Given the description of an element on the screen output the (x, y) to click on. 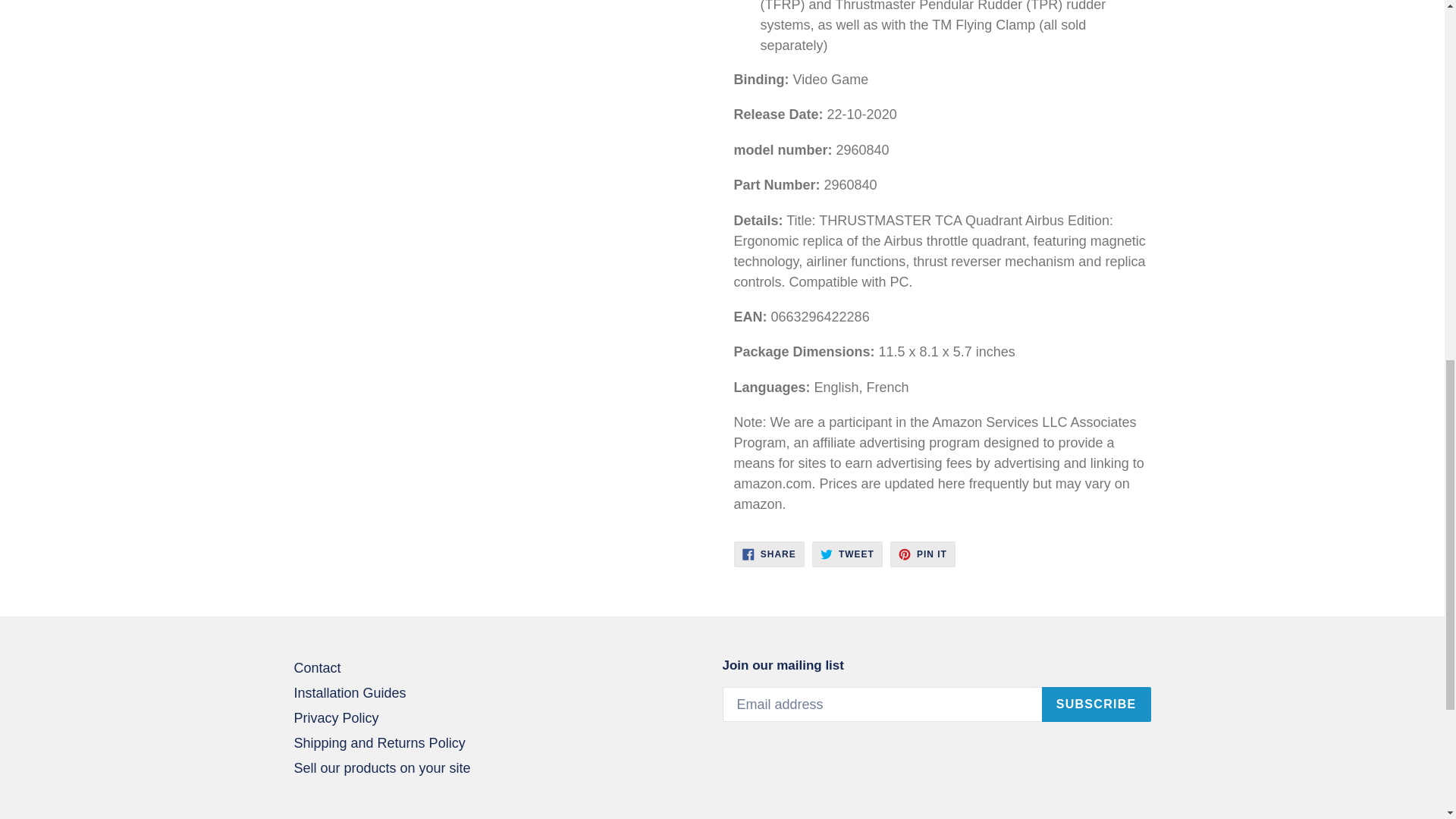
Share on Facebook (769, 554)
Contact (769, 554)
Privacy Policy (847, 554)
Shipping and Returns Policy (317, 667)
Installation Guides (336, 717)
Pin on Pinterest (922, 554)
Tweet on Twitter (379, 743)
